Given the description of an element on the screen output the (x, y) to click on. 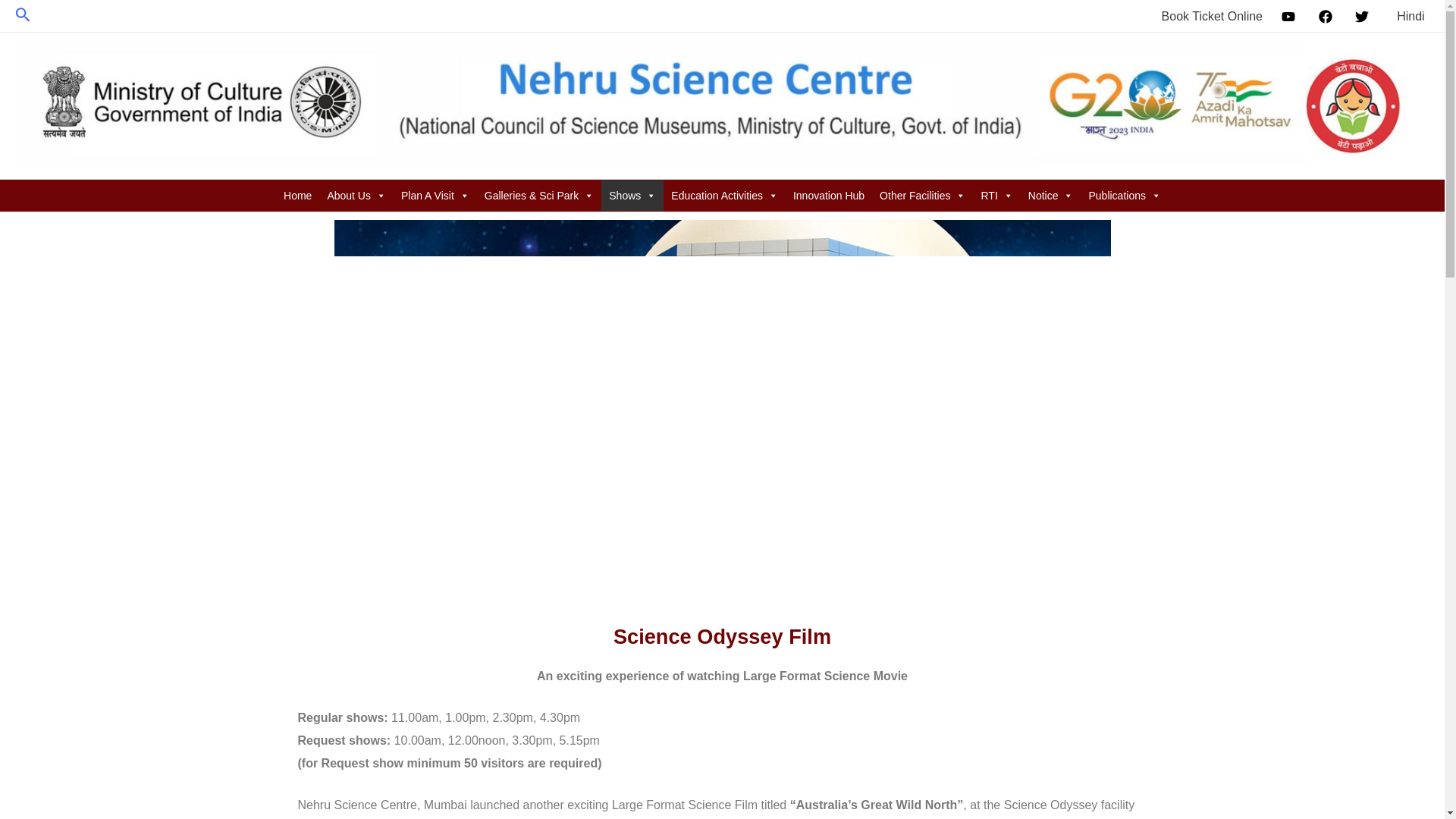
Plan A Visit (435, 195)
Shows (632, 195)
About Us (355, 195)
Home (297, 195)
Hindi (1408, 16)
Book Ticket Online (1208, 16)
